Given the description of an element on the screen output the (x, y) to click on. 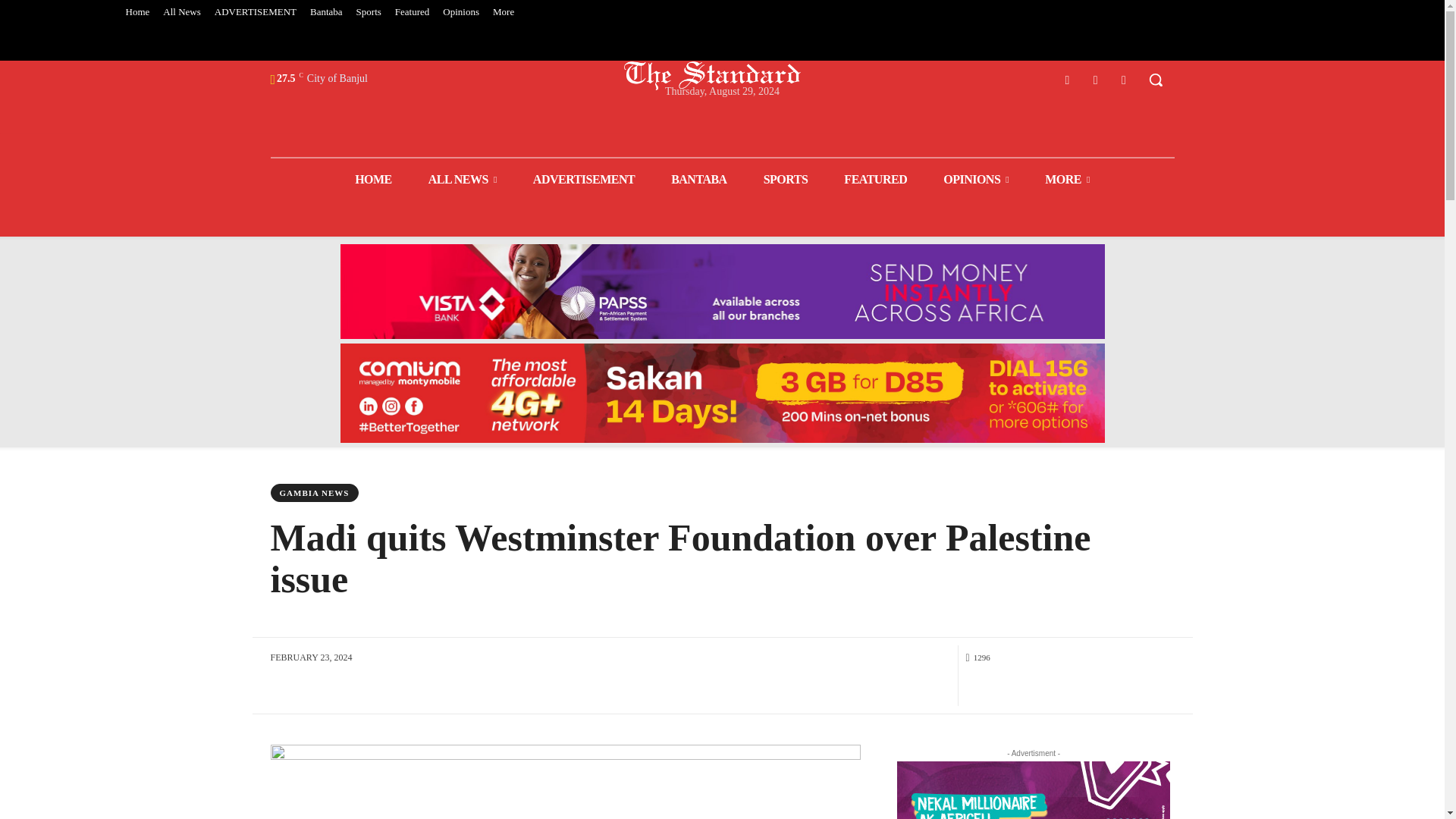
Featured (411, 12)
HOME (373, 178)
ADVERTISEMENT (255, 12)
Youtube (1123, 79)
Opinions (460, 12)
All News (180, 12)
Bantaba (325, 12)
Twitter (1094, 79)
Facebook (1067, 79)
More (503, 12)
